Given the description of an element on the screen output the (x, y) to click on. 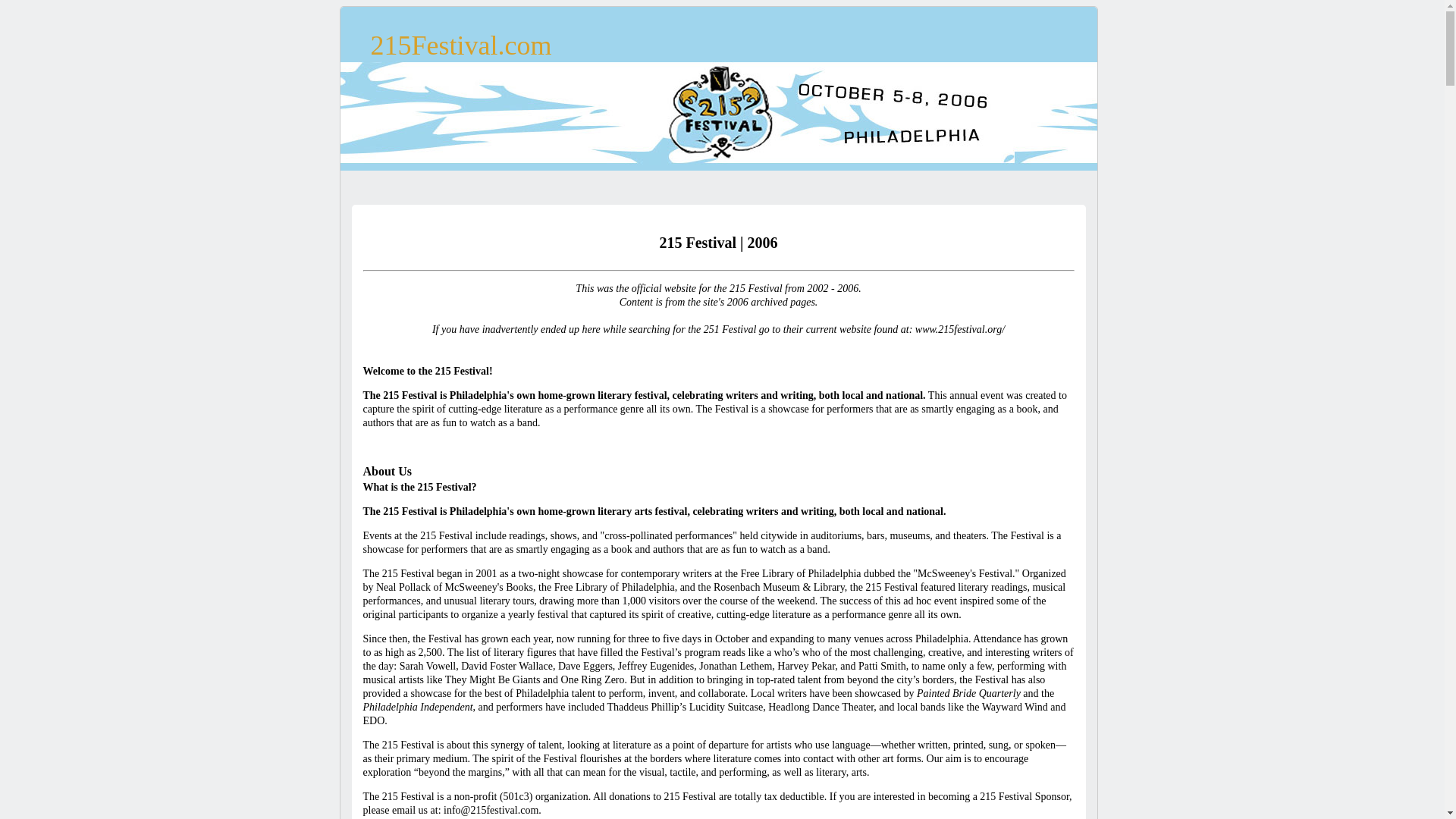
215Festival.com Element type: text (460, 45)
